Given the description of an element on the screen output the (x, y) to click on. 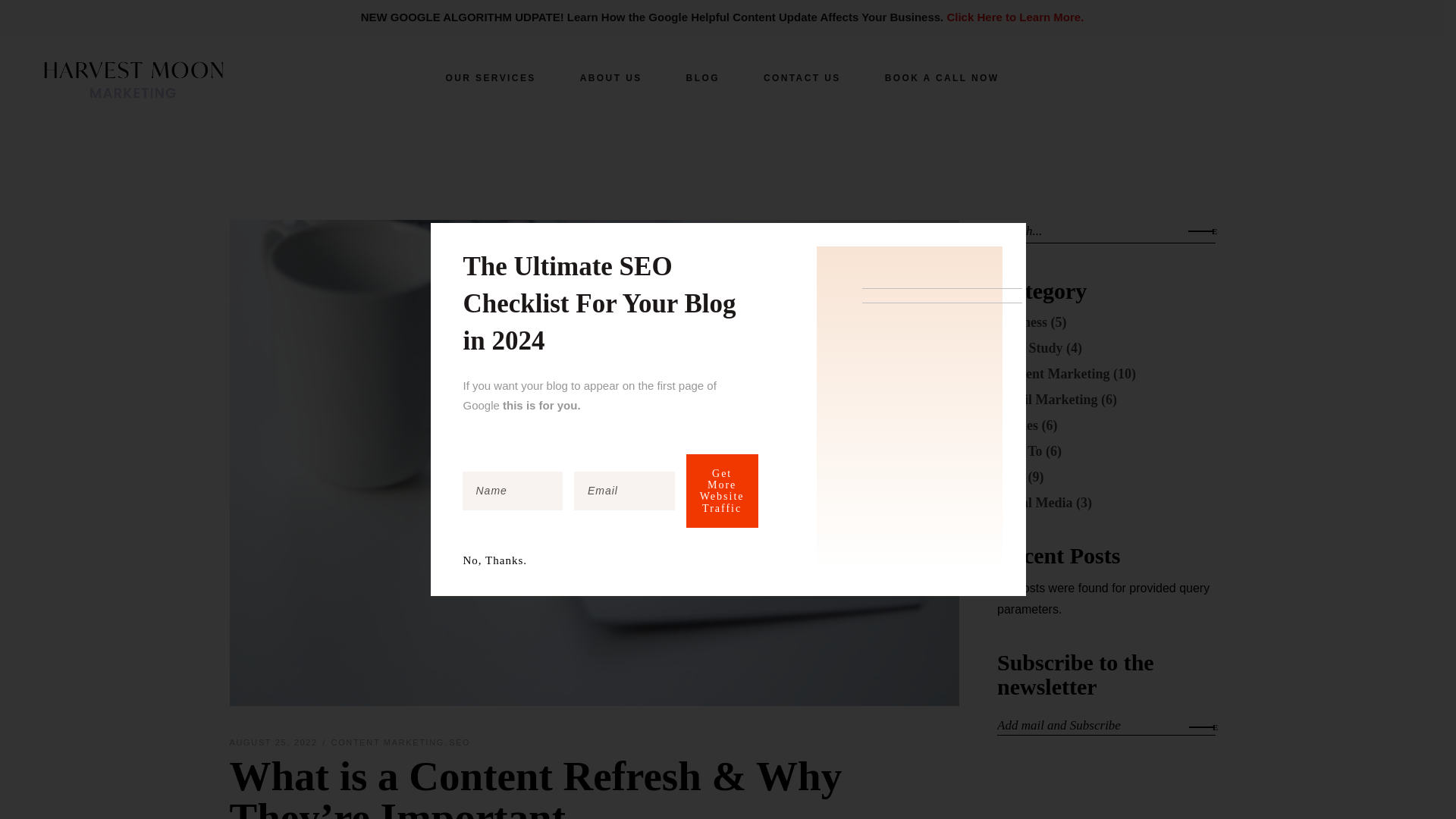
CONTACT US (801, 78)
OUR SERVICES (490, 78)
Click Here to Learn More. (1014, 16)
BOOK A CALL NOW (941, 78)
